Given the description of an element on the screen output the (x, y) to click on. 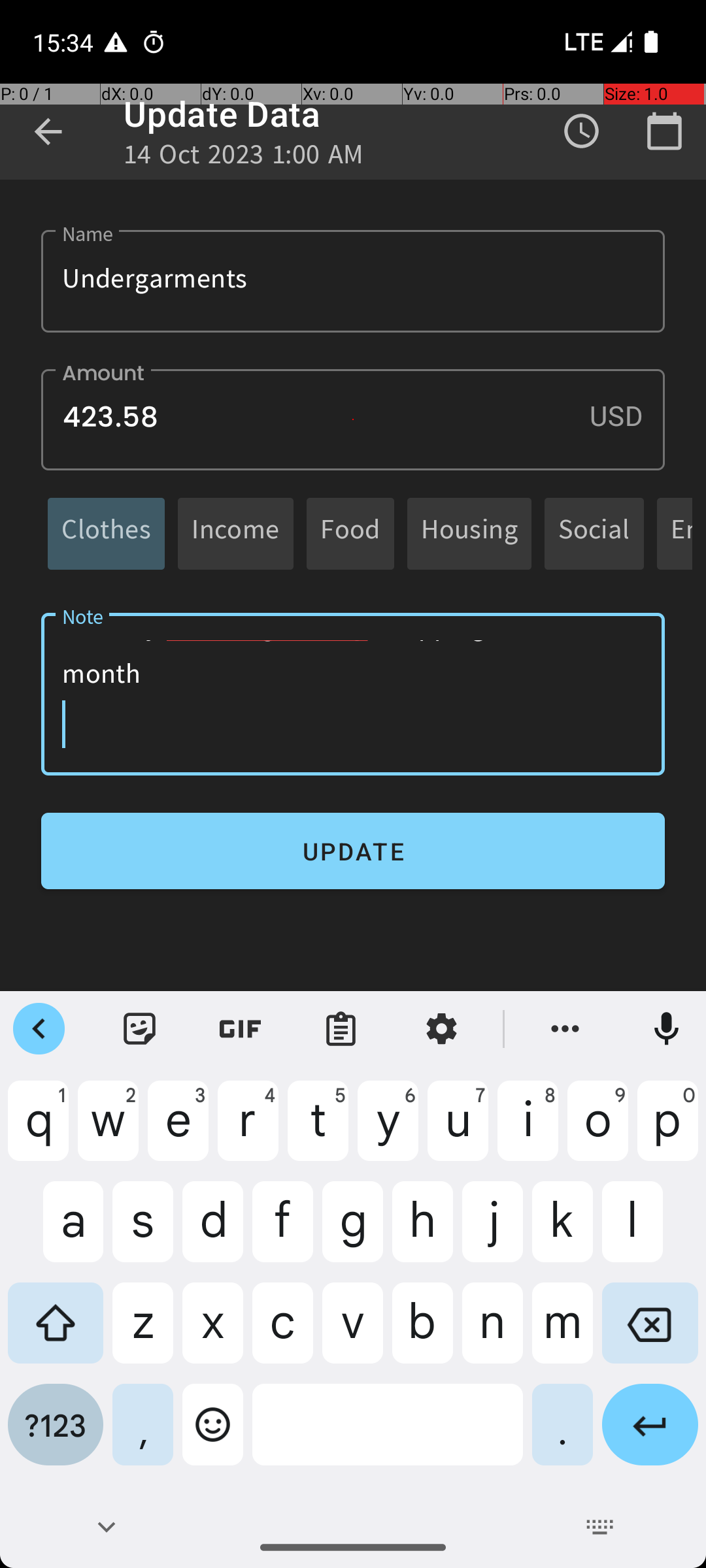
14 Oct 2023 1:00 AM Element type: android.widget.TextView (243, 157)
Undergarments Element type: android.widget.EditText (352, 280)
423.58 Element type: android.widget.EditText (352, 419)
Monthly recurringGrocery shopping for the month
 Element type: android.widget.EditText (352, 693)
Clothes Element type: android.widget.TextView (106, 533)
Close features menu Element type: android.widget.FrameLayout (39, 1028)
Sticker Keyboard Element type: android.widget.FrameLayout (139, 1028)
GIF Keyboard Element type: android.widget.FrameLayout (240, 1028)
Clipboard Element type: android.widget.FrameLayout (340, 1028)
More features Element type: android.widget.FrameLayout (565, 1028)
